Given the description of an element on the screen output the (x, y) to click on. 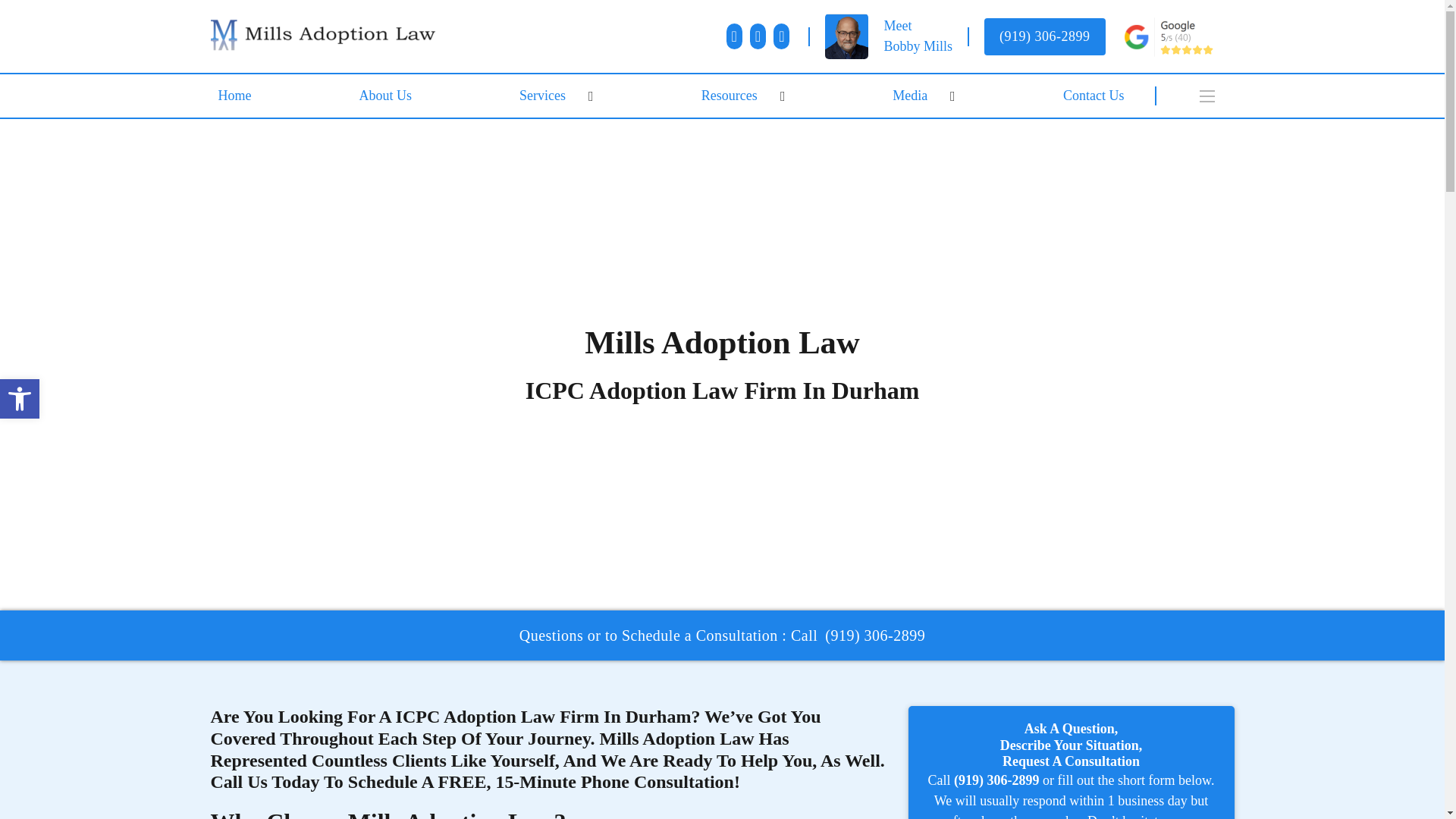
Home (324, 36)
About Us (386, 95)
Resources (917, 35)
Linkedin (729, 95)
Home (757, 37)
Media (235, 95)
GMB  (909, 95)
Accessibility Tools (781, 37)
Services (19, 398)
Accessibility Tools (542, 95)
FaceBook (19, 398)
